Given the description of an element on the screen output the (x, y) to click on. 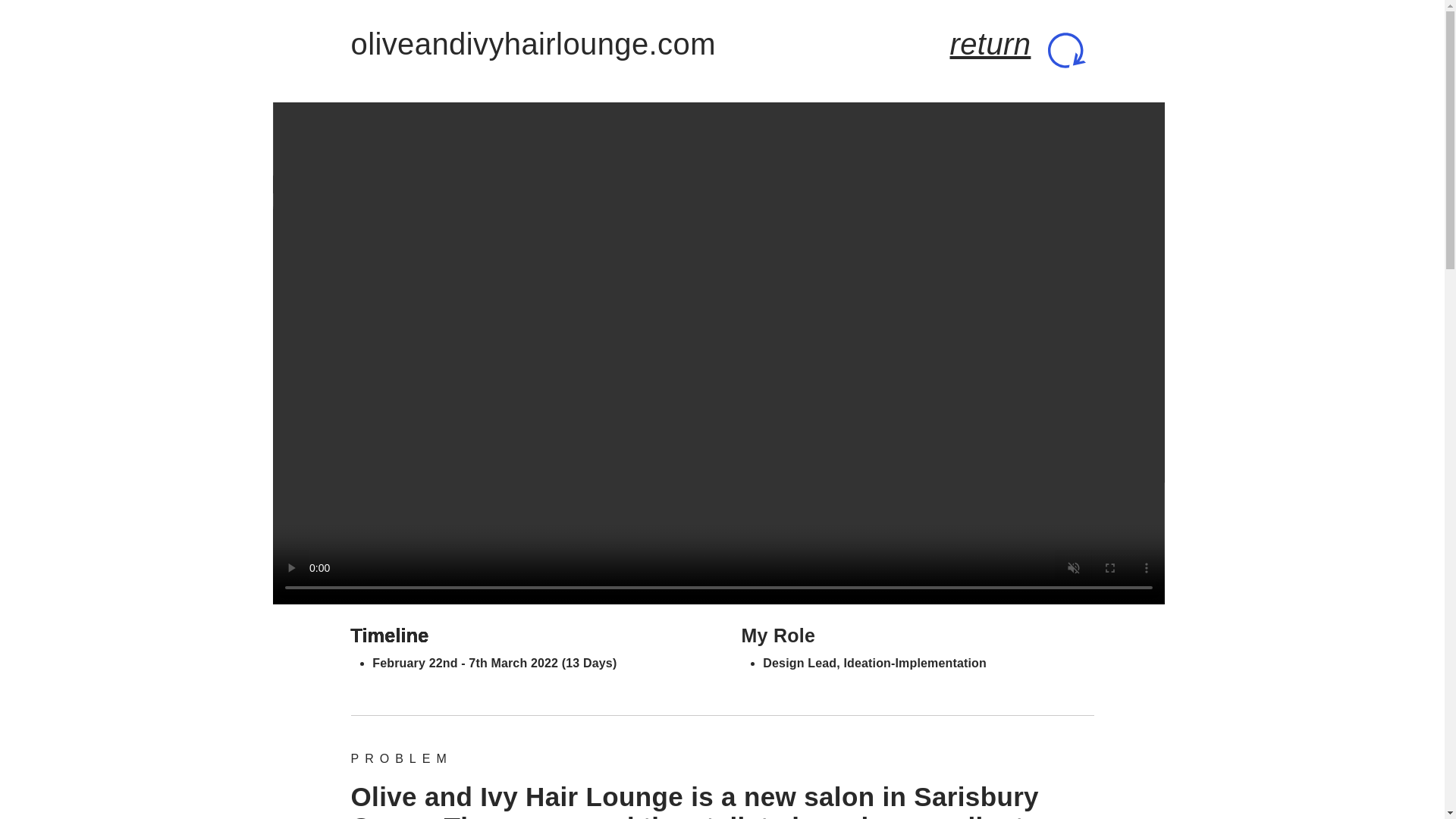
return (989, 43)
